Given the description of an element on the screen output the (x, y) to click on. 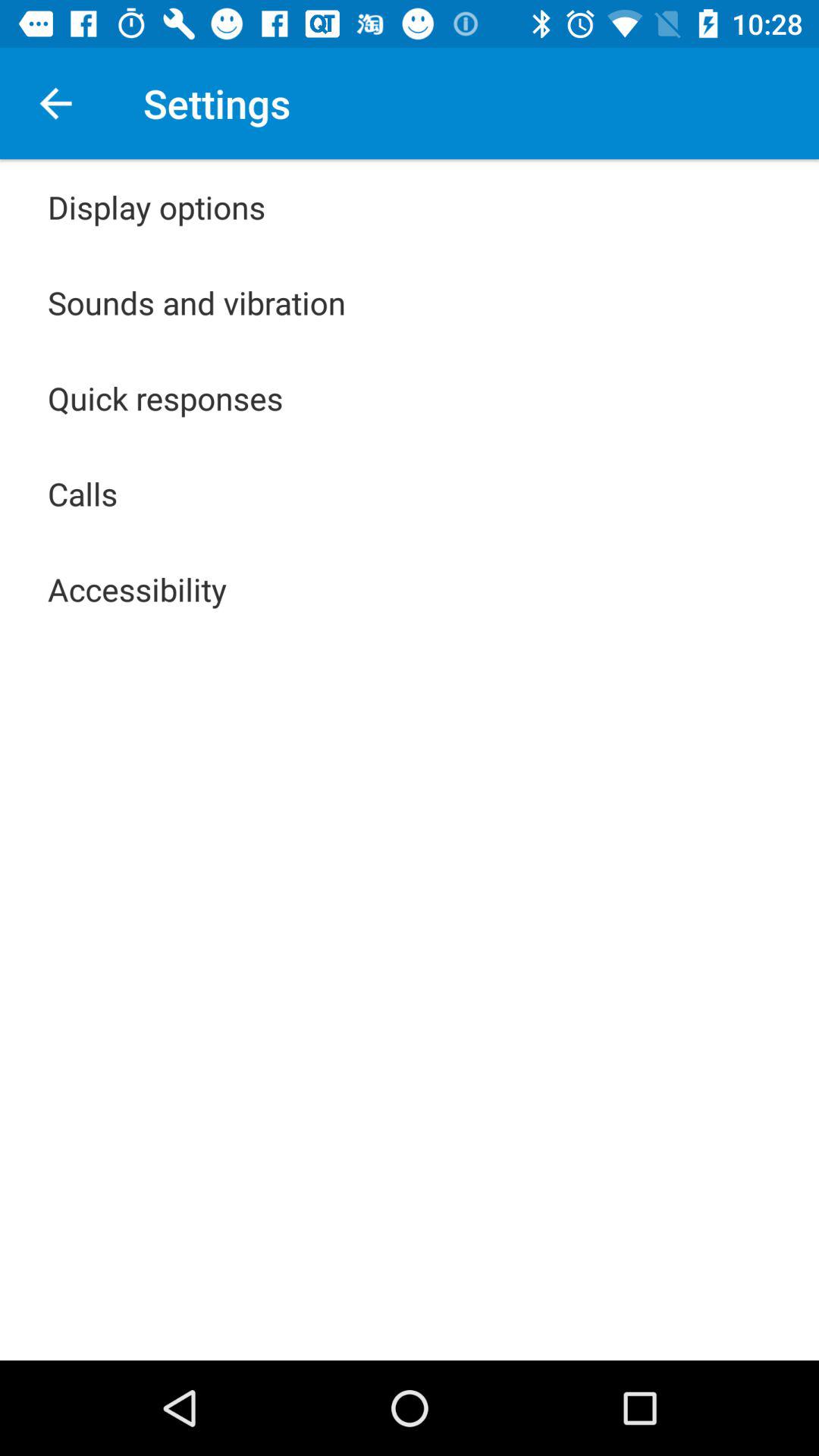
press item above the quick responses item (196, 302)
